Given the description of an element on the screen output the (x, y) to click on. 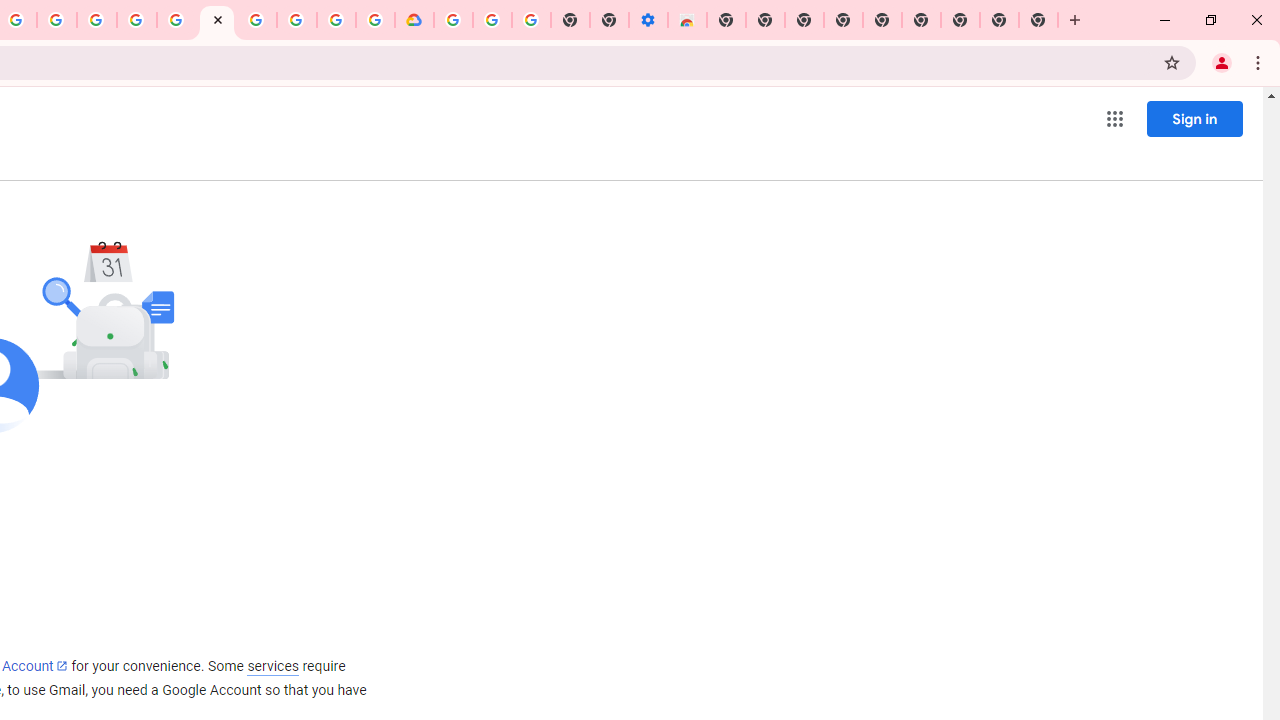
Settings - Accessibility (648, 20)
Google Account Help (256, 20)
Sign in - Google Accounts (177, 20)
Turn cookies on or off - Computer - Google Account Help (531, 20)
Browse the Google Chrome Community - Google Chrome Community (375, 20)
services (273, 666)
Google Account Help (491, 20)
Ad Settings (136, 20)
